Given the description of an element on the screen output the (x, y) to click on. 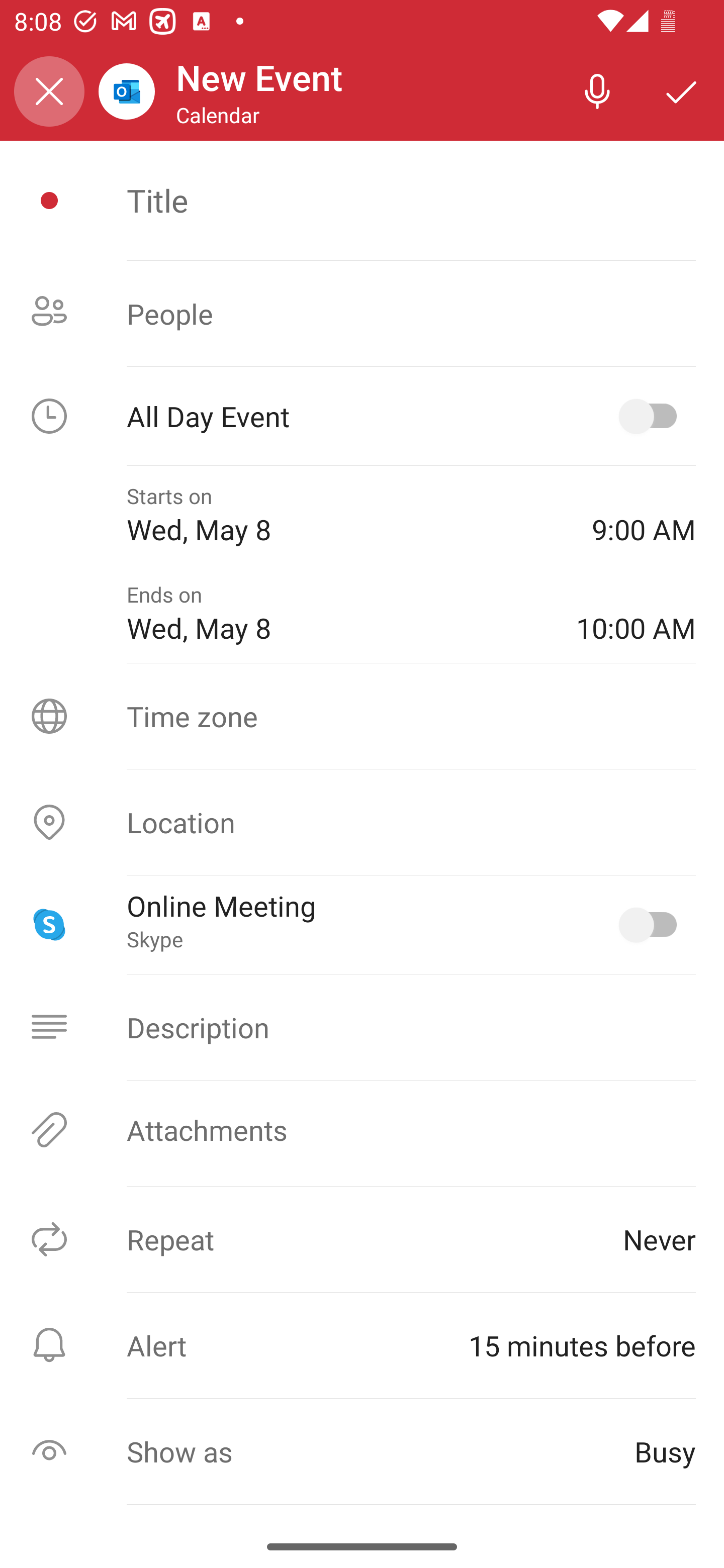
Close (49, 91)
Save (681, 90)
Title (410, 200)
Event icon picker (48, 200)
People (362, 313)
All Day Event (362, 415)
Starts on Wed, May 8 (344, 514)
9:00 AM (643, 514)
Ends on Wed, May 8 (336, 613)
10:00 AM (635, 613)
Time zone (362, 715)
Location (362, 821)
Online Meeting, Skype selected (651, 923)
Description (362, 1026)
Attachments (362, 1129)
Repeat Never (362, 1239)
Alert ⁨15 minutes before (362, 1345)
Show as Busy (362, 1450)
